Given the description of an element on the screen output the (x, y) to click on. 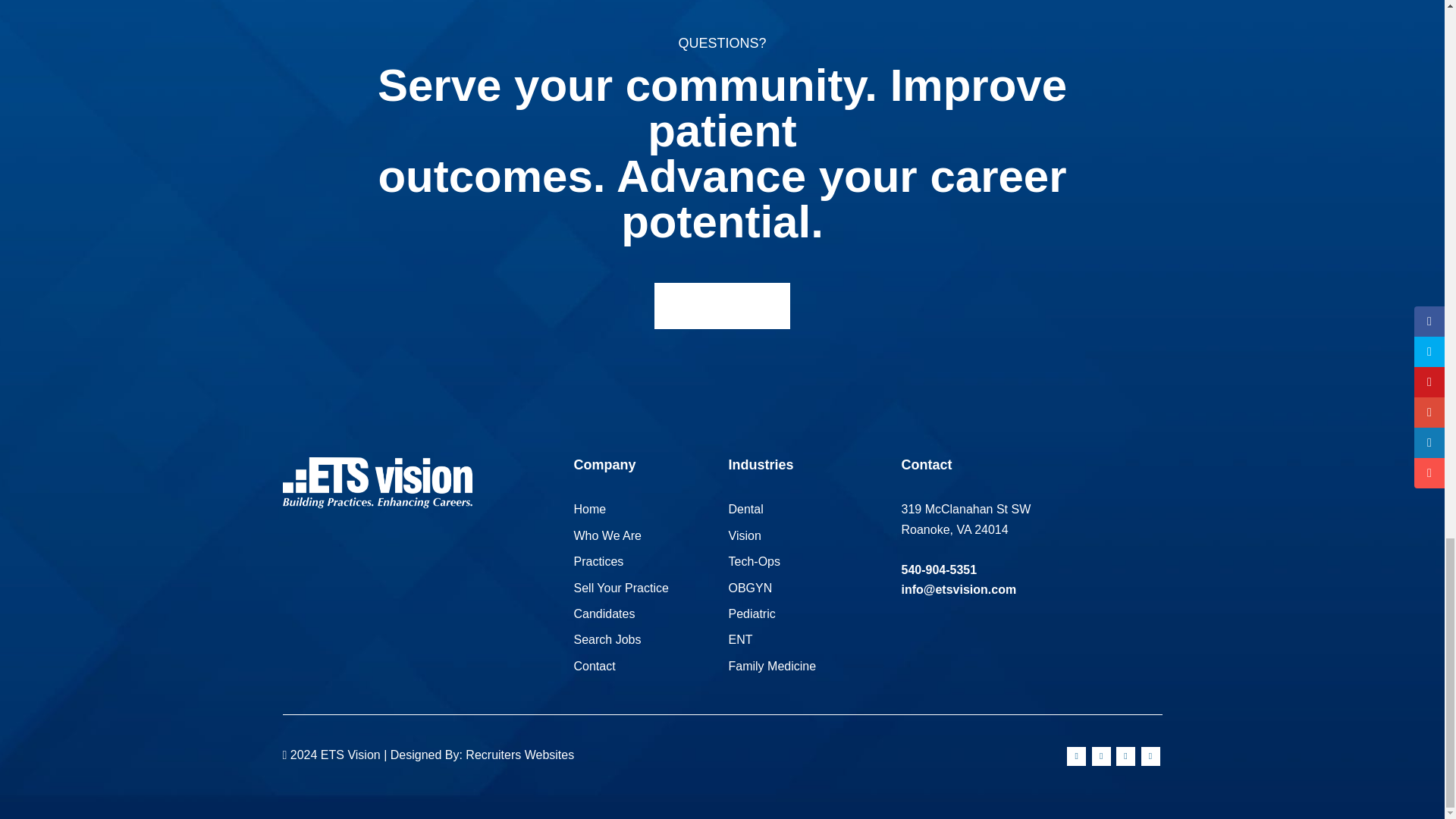
Search Jobs (606, 639)
Candidates (603, 613)
Contact (593, 666)
ETS Vision Logo (376, 482)
OBGYN (749, 586)
Sell Your Practice (620, 586)
Vision (744, 535)
CONTACT US (721, 306)
Pediatric (751, 613)
ENT (740, 639)
Family Medicine (771, 666)
Recruiters Websites (519, 754)
Home (589, 508)
Practices (598, 561)
Tech-Ops (753, 561)
